Given the description of an element on the screen output the (x, y) to click on. 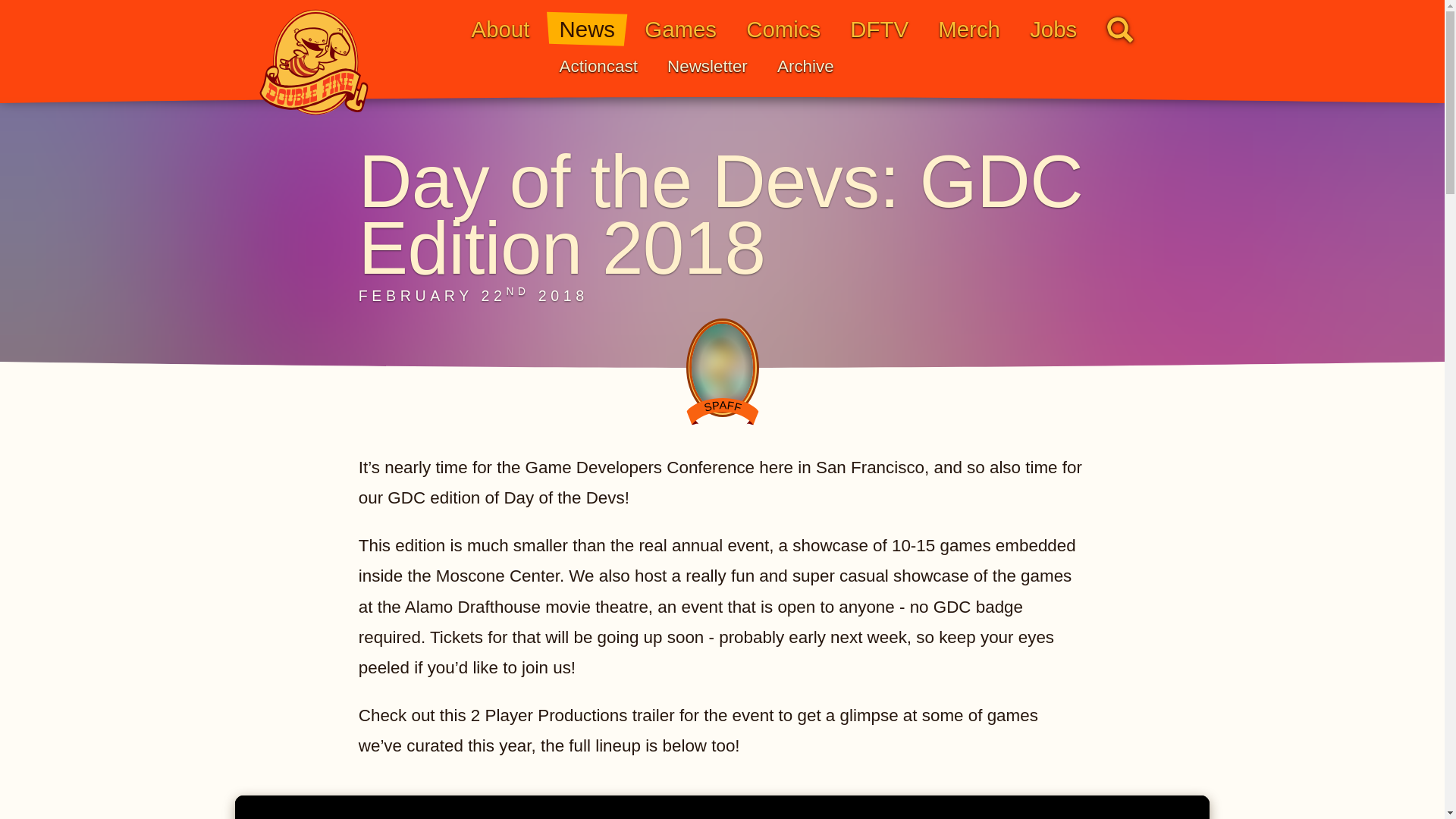
Newsletter (707, 66)
The Double Fine Logo (313, 62)
About (500, 29)
Comics (783, 29)
DFTV (879, 29)
Archive (805, 66)
News (587, 29)
Games (680, 29)
Merch (968, 29)
SPAFF (721, 411)
Actioncast (598, 66)
Search (1120, 29)
Jobs (1053, 29)
